Given the description of an element on the screen output the (x, y) to click on. 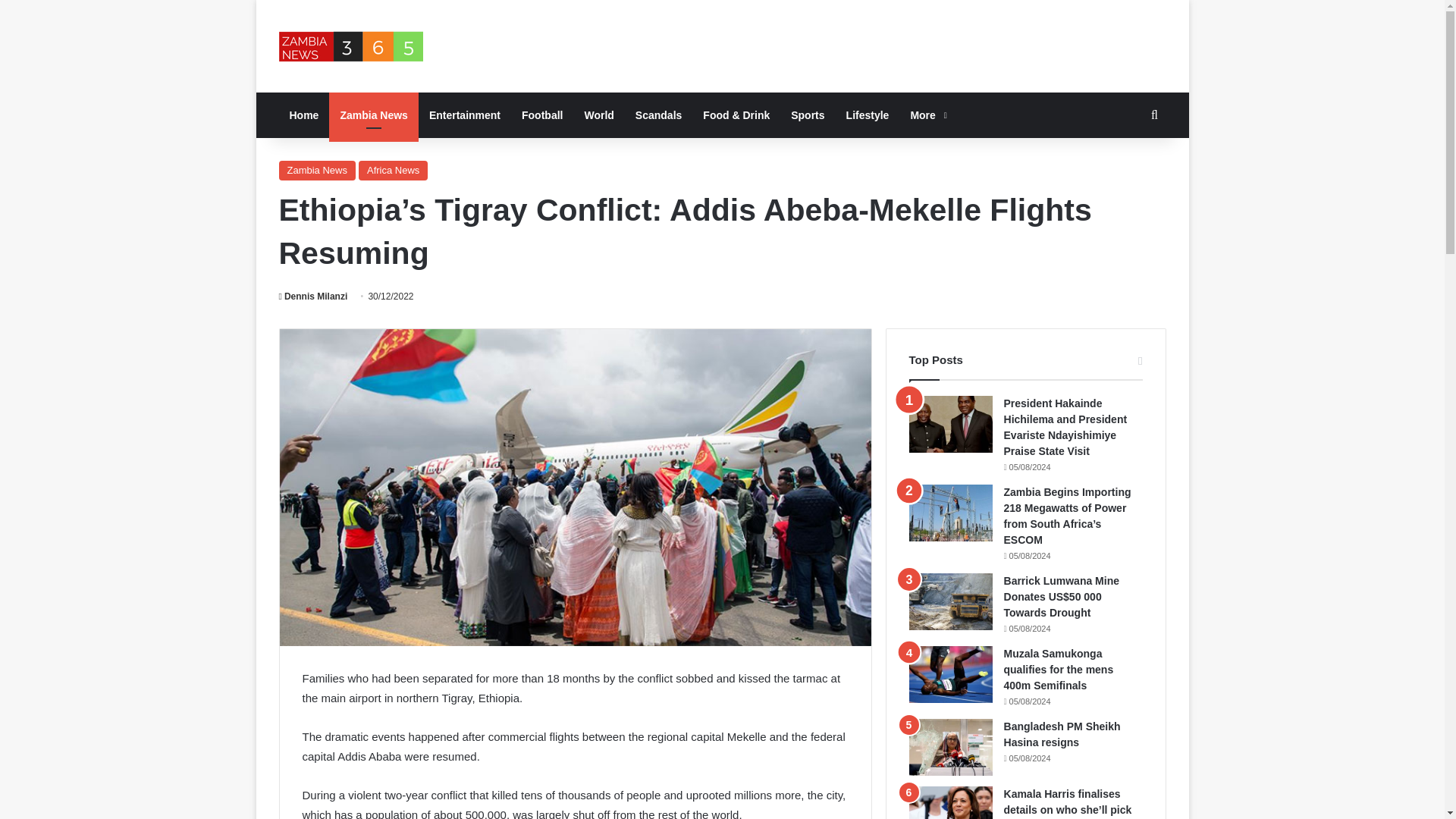
Home (304, 115)
Lifestyle (867, 115)
World (598, 115)
Dennis Milanzi (313, 296)
Zambia News (373, 115)
Zambia News365 (351, 46)
Entertainment (465, 115)
Africa News (393, 170)
Dennis Milanzi (313, 296)
Scandals (658, 115)
Zambia News (317, 170)
Sports (807, 115)
More (926, 115)
Football (542, 115)
